Given the description of an element on the screen output the (x, y) to click on. 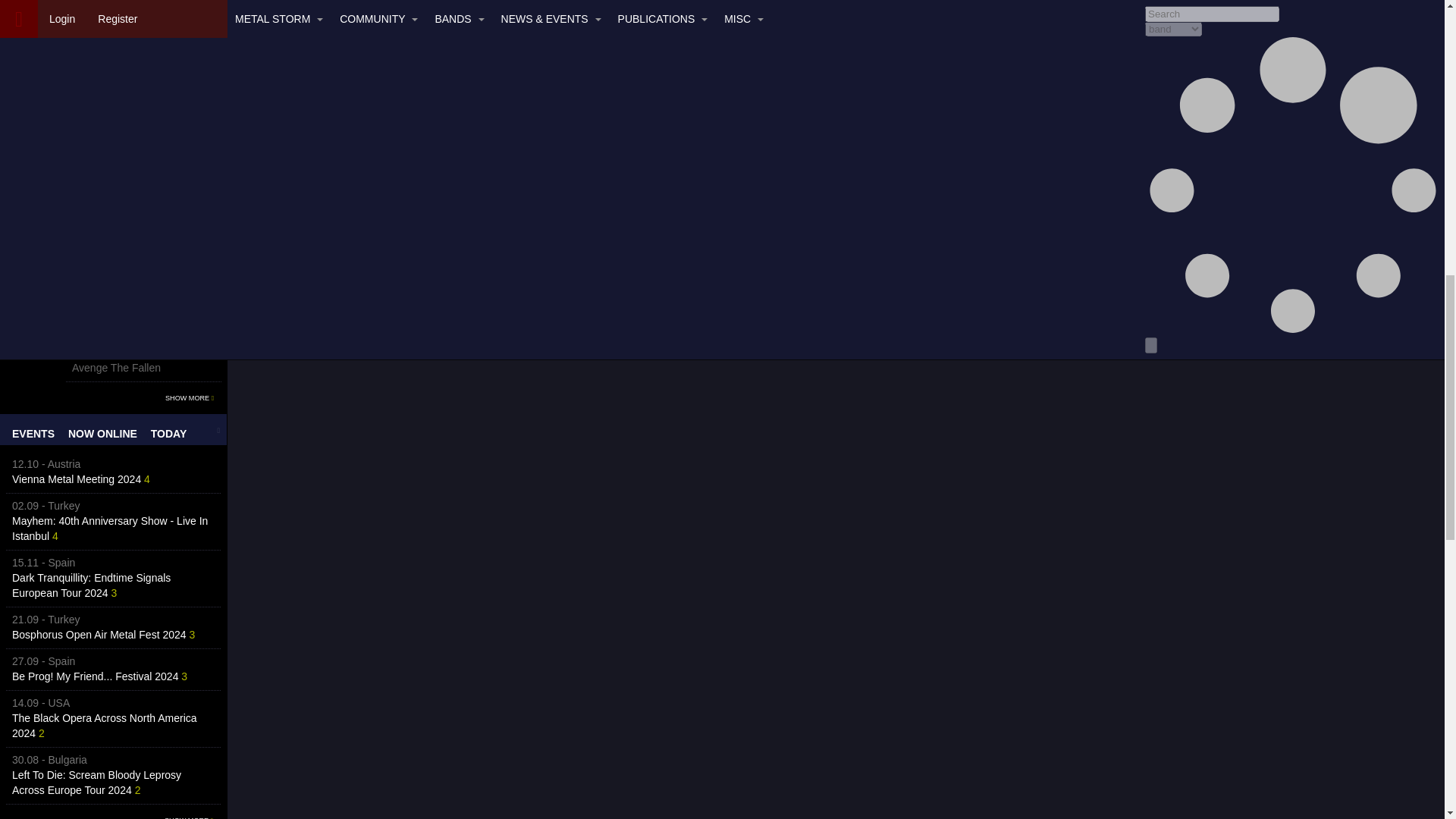
by RaduP (130, 109)
by RaduP (114, 151)
